Given the description of an element on the screen output the (x, y) to click on. 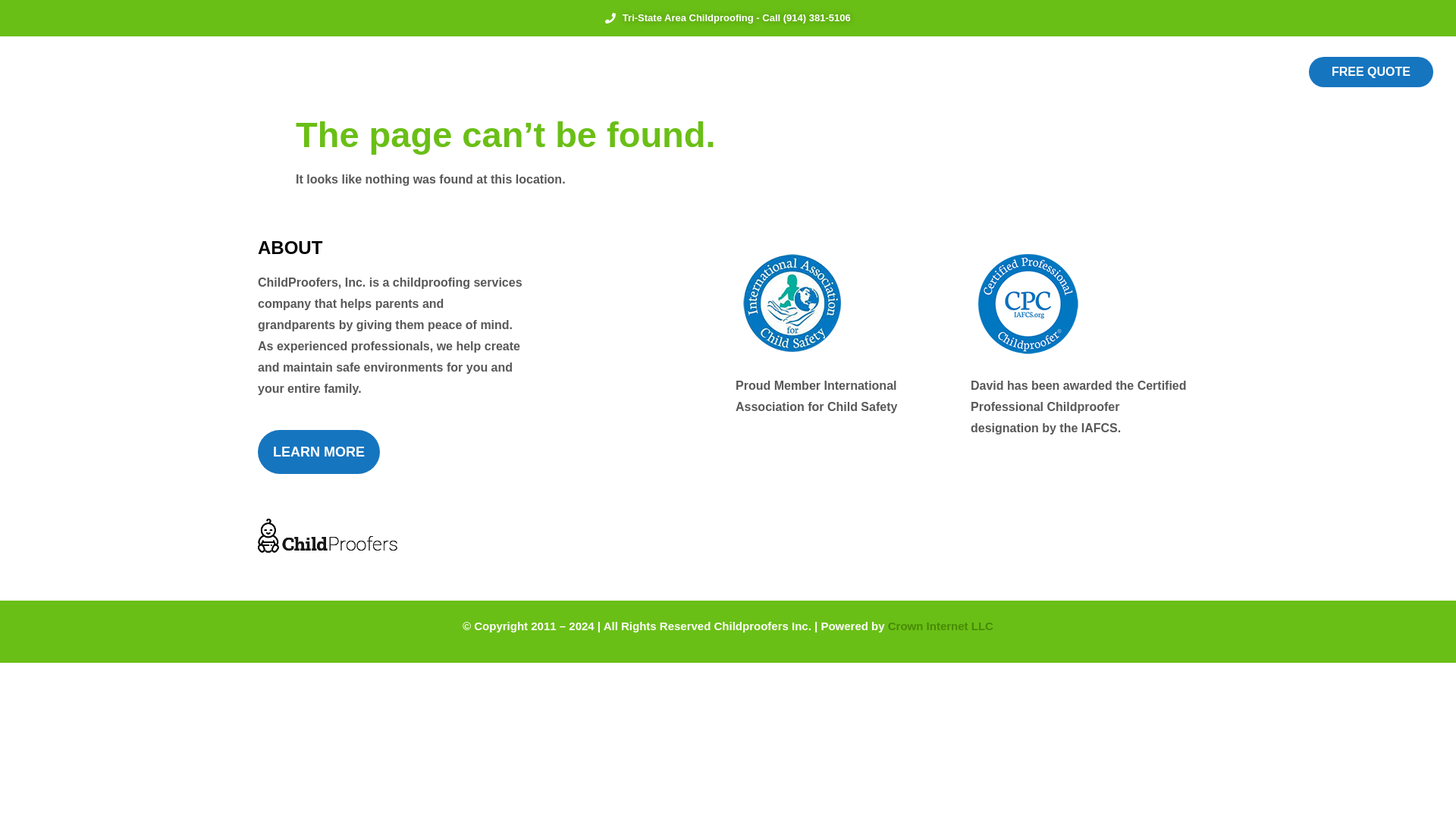
Contact (940, 71)
FREE QUOTE (1370, 71)
LEARN MORE (318, 451)
About Us (580, 71)
Photo Gallery (849, 71)
Services (660, 71)
Home (508, 71)
Crown Internet LLC (940, 625)
Resources (746, 71)
